Given the description of an element on the screen output the (x, y) to click on. 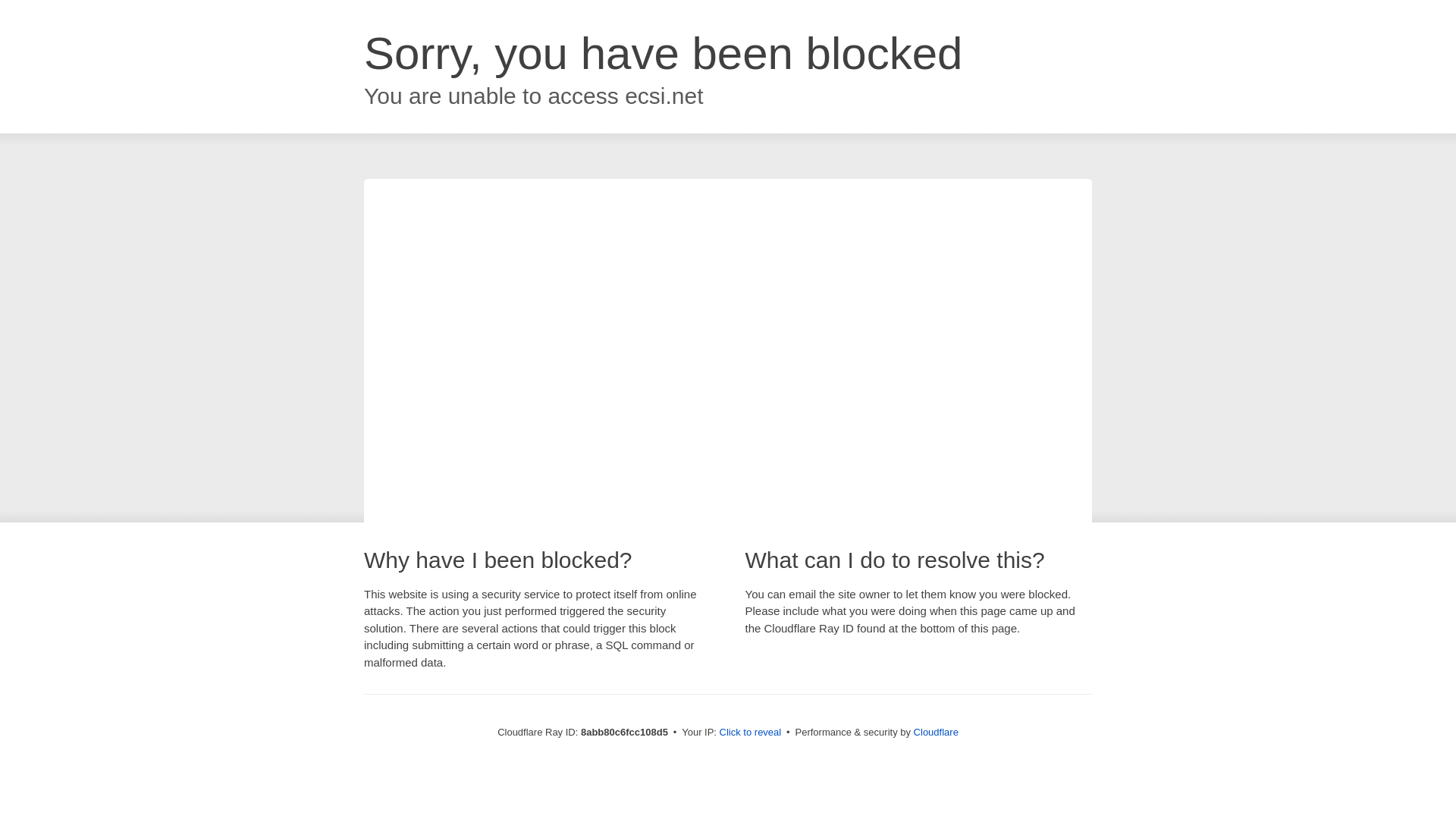
Cloudflare (936, 731)
Click to reveal (750, 732)
